Given the description of an element on the screen output the (x, y) to click on. 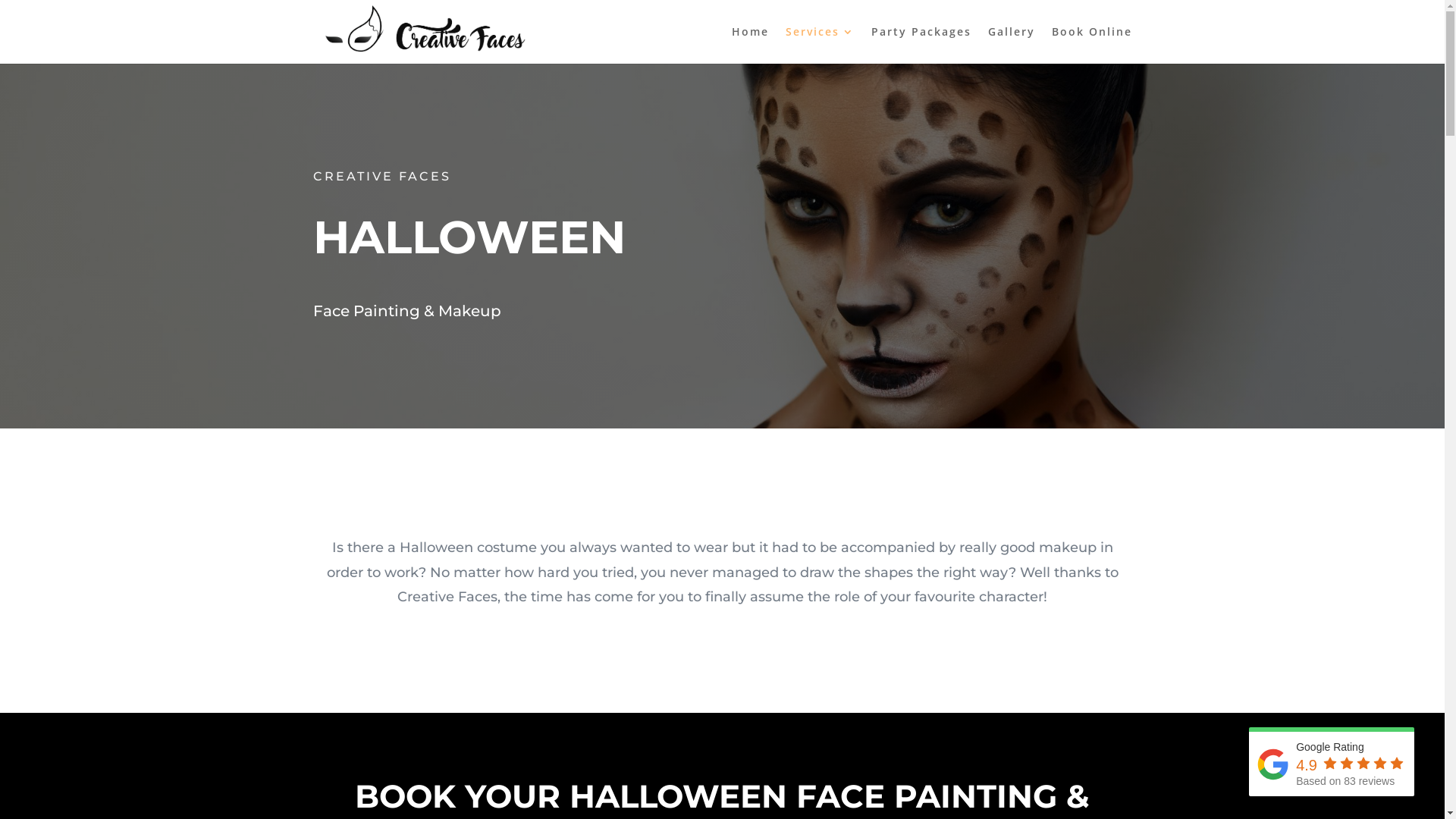
Home Element type: text (749, 44)
Book Online Element type: text (1091, 44)
Gallery Element type: text (1010, 44)
Party Packages Element type: text (920, 44)
Services Element type: text (819, 44)
